Given the description of an element on the screen output the (x, y) to click on. 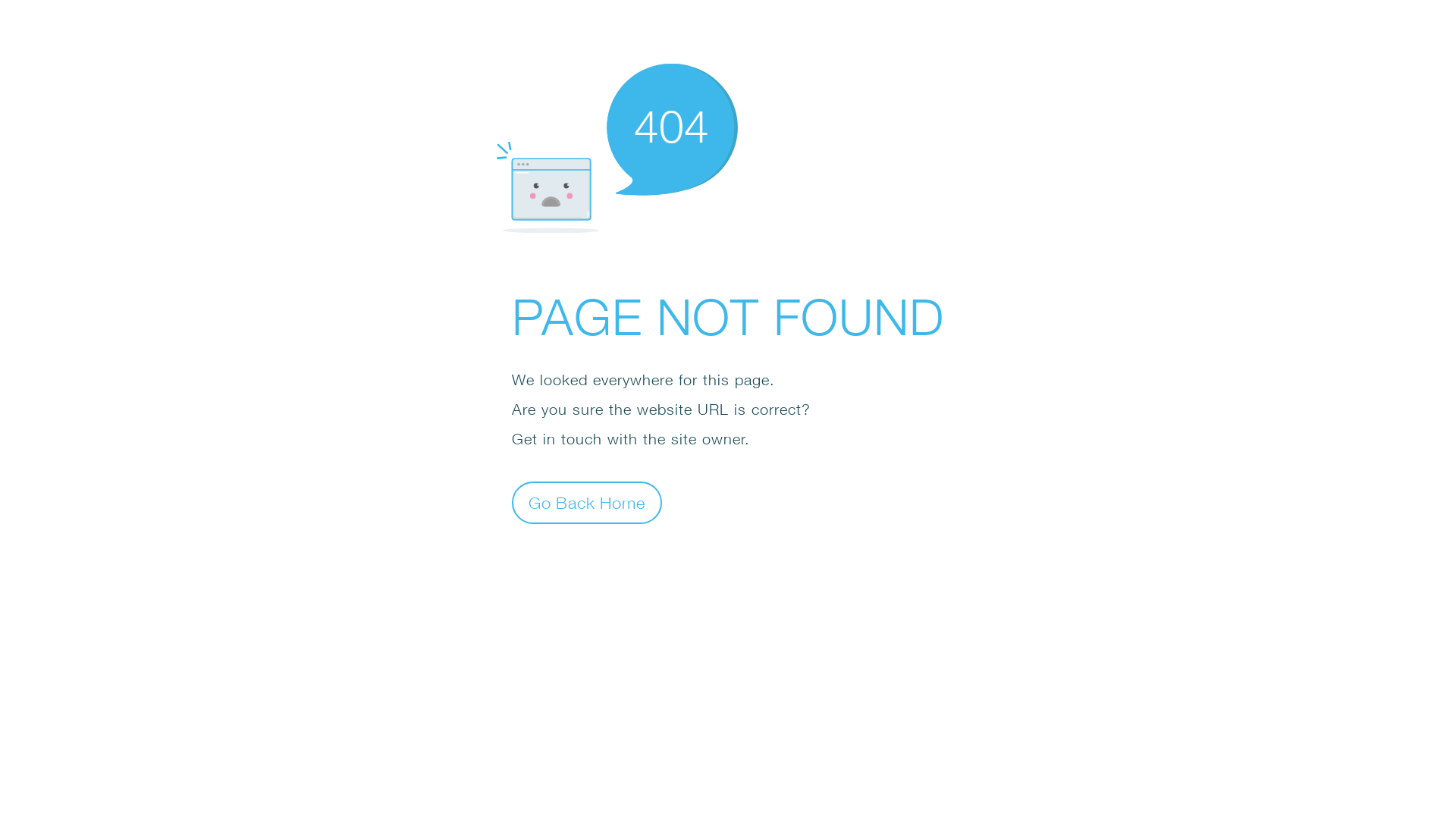
Go Back Home Element type: text (586, 502)
